Given the description of an element on the screen output the (x, y) to click on. 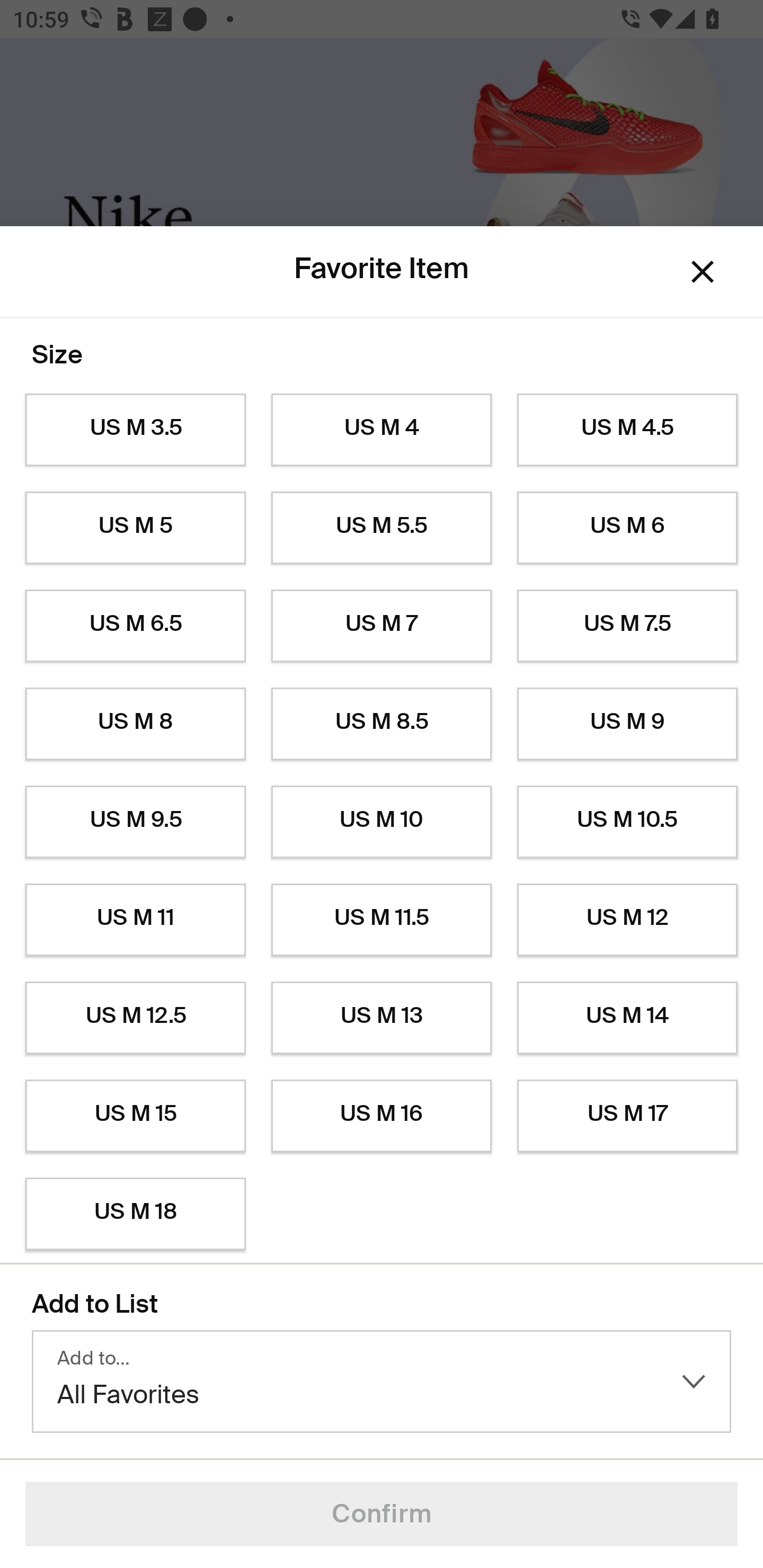
Dismiss (702, 271)
US M 3.5 (135, 430)
US M 4 (381, 430)
US M 4.5 (627, 430)
US M 5 (135, 527)
US M 5.5 (381, 527)
US M 6 (627, 527)
US M 6.5 (135, 626)
US M 7 (381, 626)
US M 7.5 (627, 626)
US M 8 (135, 724)
US M 8.5 (381, 724)
US M 9 (627, 724)
US M 9.5 (135, 822)
US M 10 (381, 822)
US M 10.5 (627, 822)
US M 11 (135, 919)
US M 11.5 (381, 919)
US M 12 (627, 919)
US M 12.5 (135, 1018)
US M 13 (381, 1018)
US M 14 (627, 1018)
US M 15 (135, 1116)
US M 16 (381, 1116)
US M 17 (627, 1116)
US M 18 (135, 1214)
Add to… All Favorites (381, 1381)
Confirm (381, 1513)
